Given the description of an element on the screen output the (x, y) to click on. 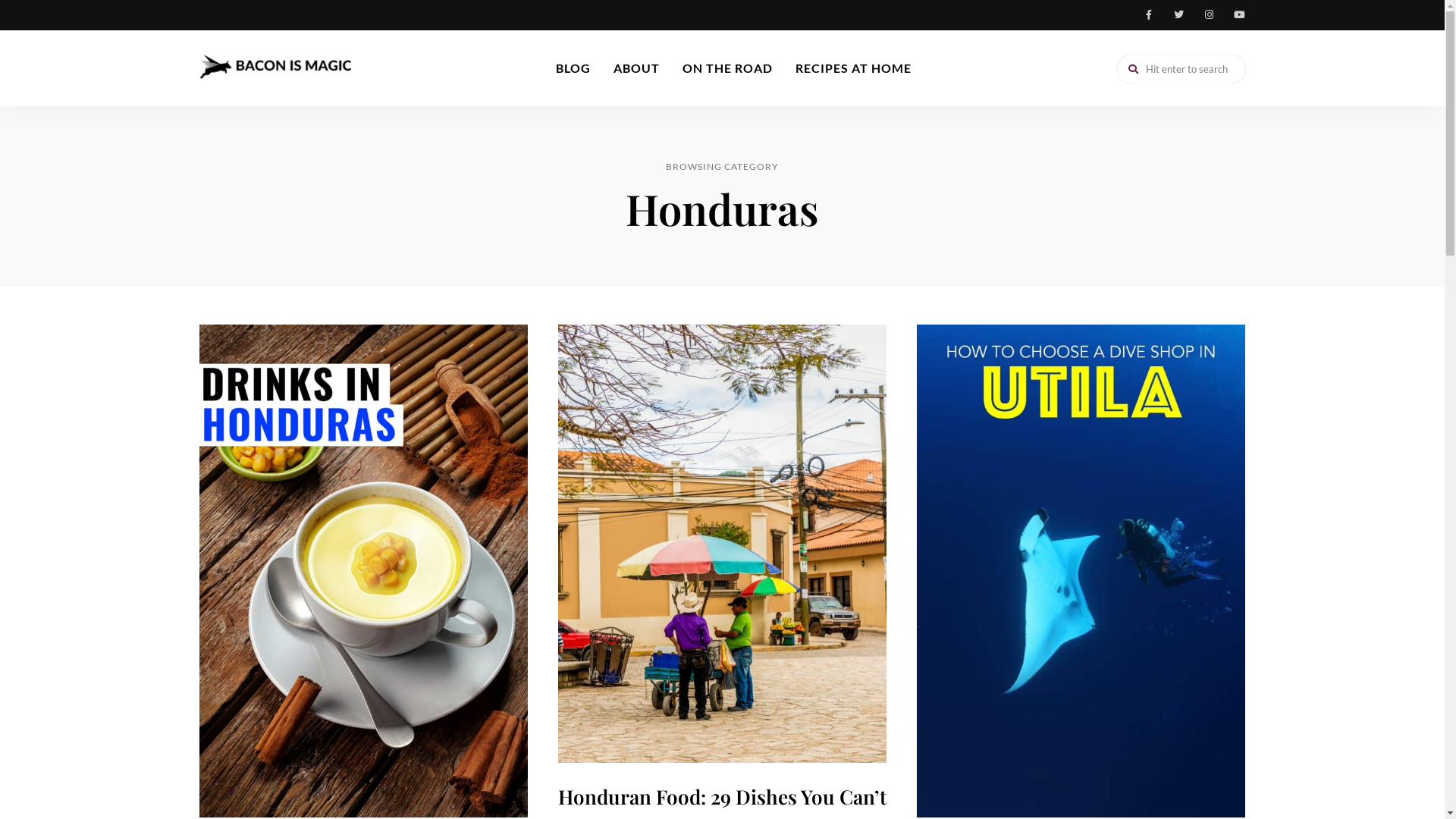
Twitter Element type: text (1178, 15)
Facebook Element type: text (1147, 15)
ABOUT Element type: text (636, 68)
BLOG Element type: text (573, 68)
ON THE ROAD Element type: text (727, 68)
Instagram Element type: text (1208, 15)
Youtube Element type: text (1238, 15)
RECIPES AT HOME Element type: text (853, 68)
